Given the description of an element on the screen output the (x, y) to click on. 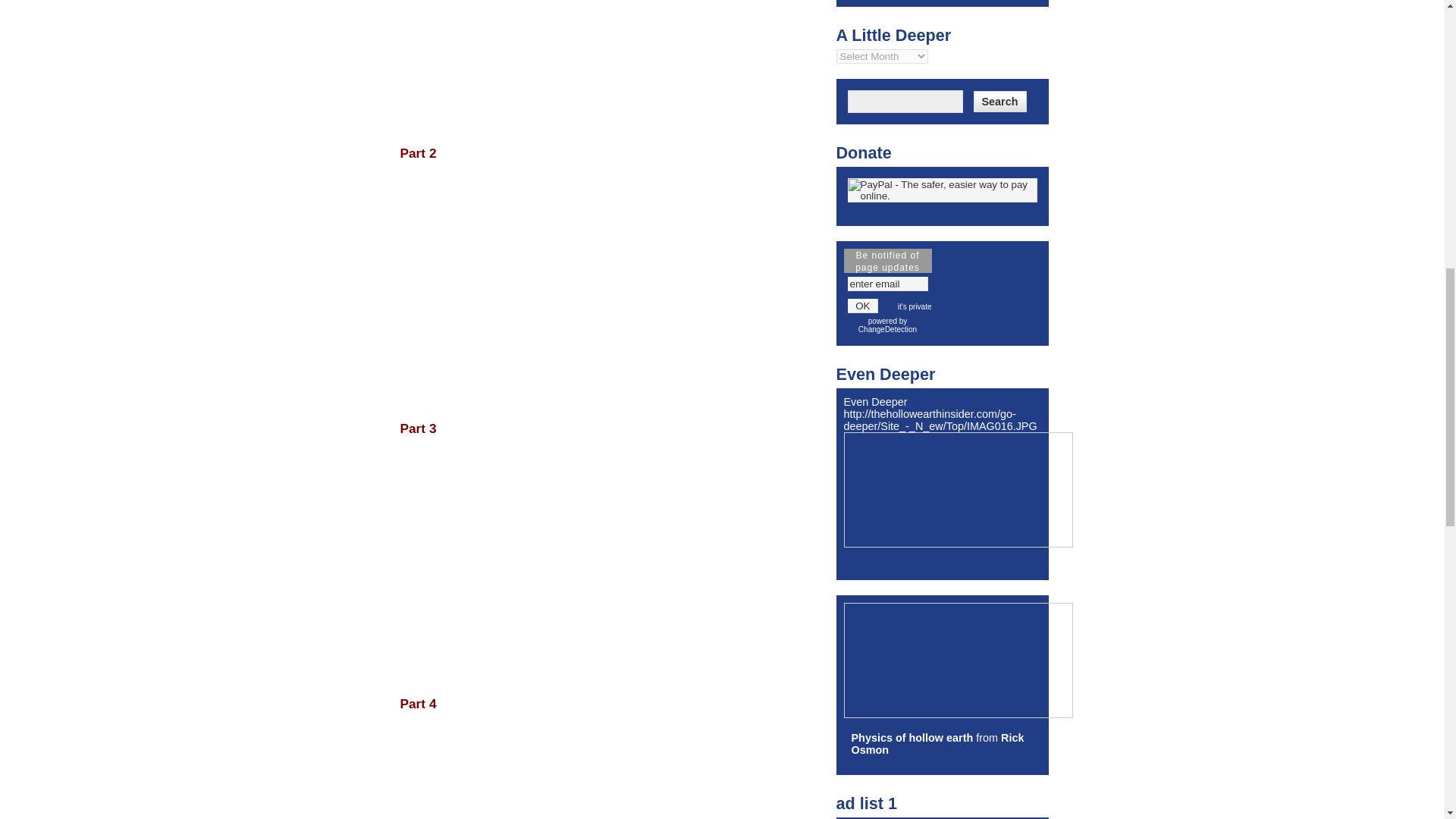
Search (1000, 101)
enter email (887, 283)
 OK  (863, 305)
Physics of Hollow Earth (911, 737)
